Given the description of an element on the screen output the (x, y) to click on. 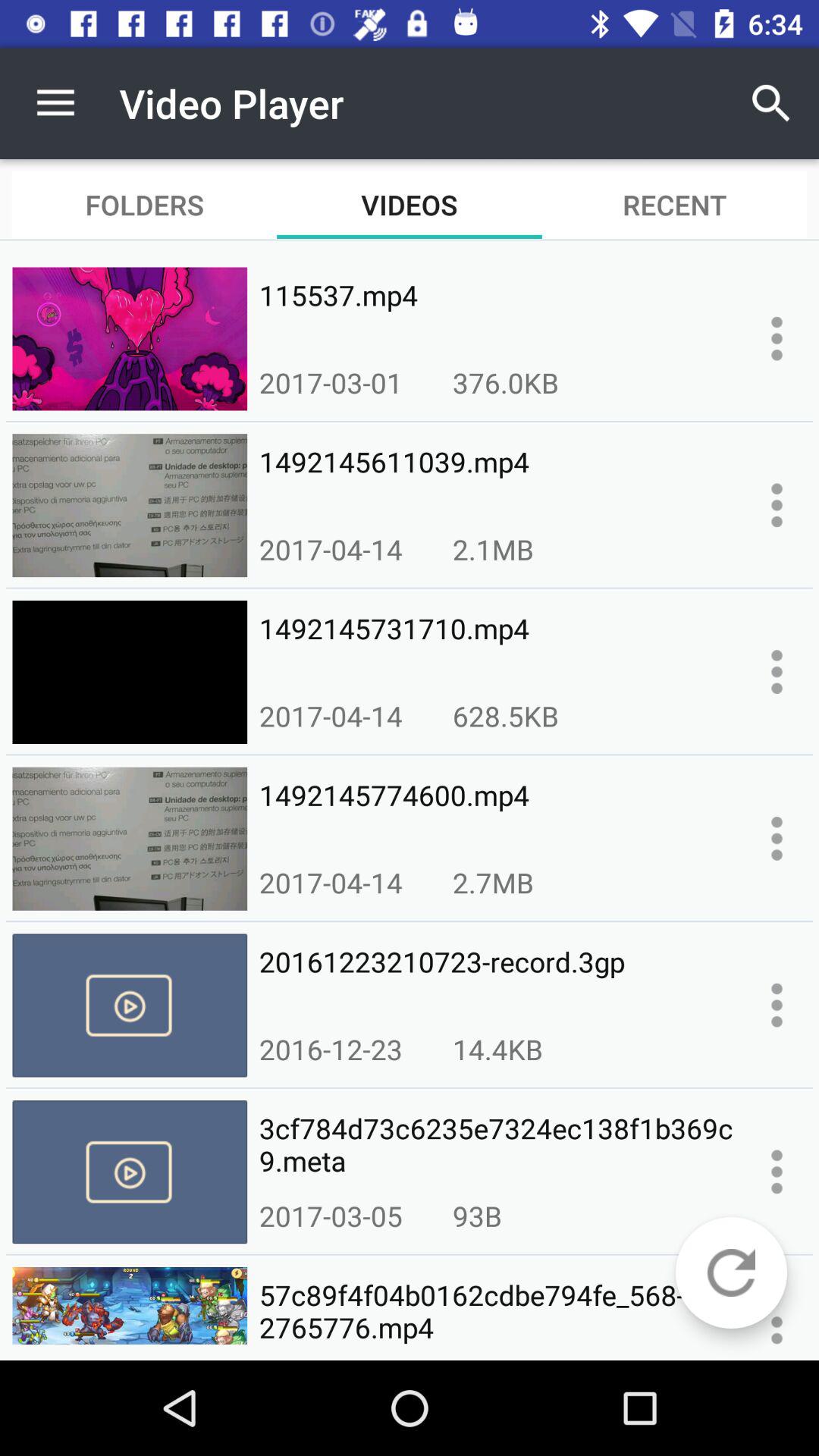
reload page (731, 1272)
